Given the description of an element on the screen output the (x, y) to click on. 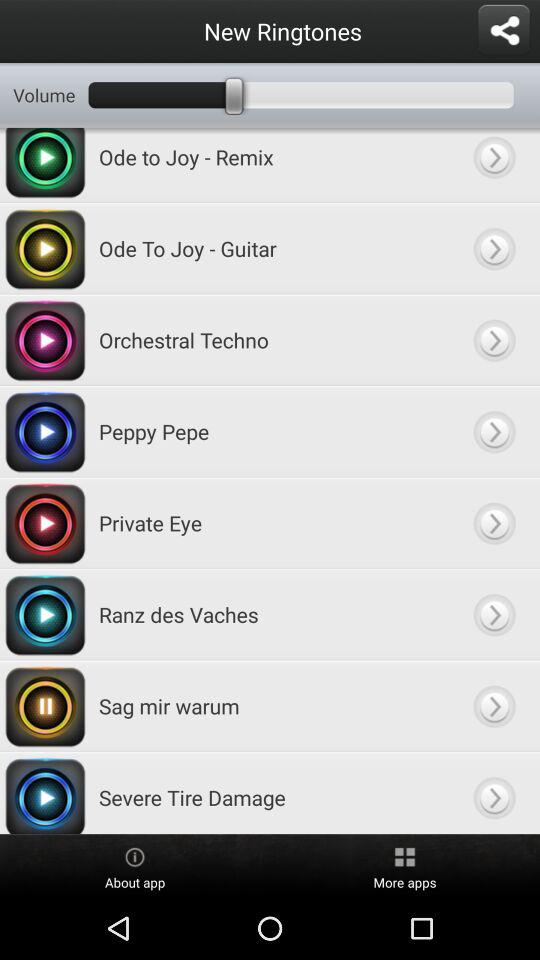
forwad (494, 522)
